Given the description of an element on the screen output the (x, y) to click on. 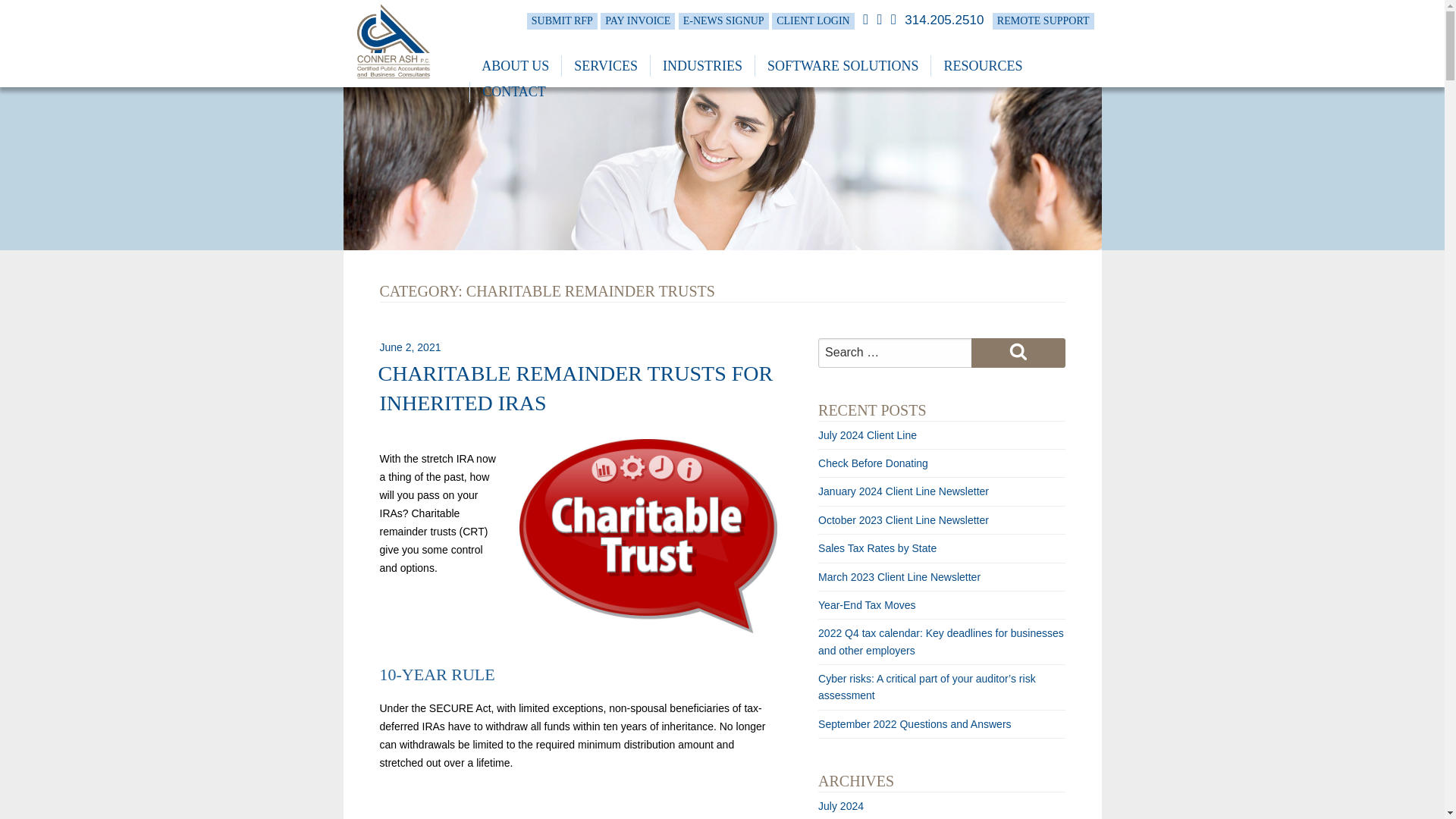
Client Login (812, 21)
E-News Signup (637, 21)
E-NEWS SIGNUP (723, 21)
CLIENT LOGIN (812, 21)
ABOUT US (514, 65)
SUBMIT RFP (561, 21)
SOFTWARE SOLUTIONS (842, 65)
Request For Proposal (561, 21)
Remote Support (1043, 21)
REMOTE SUPPORT (1043, 21)
